Given the description of an element on the screen output the (x, y) to click on. 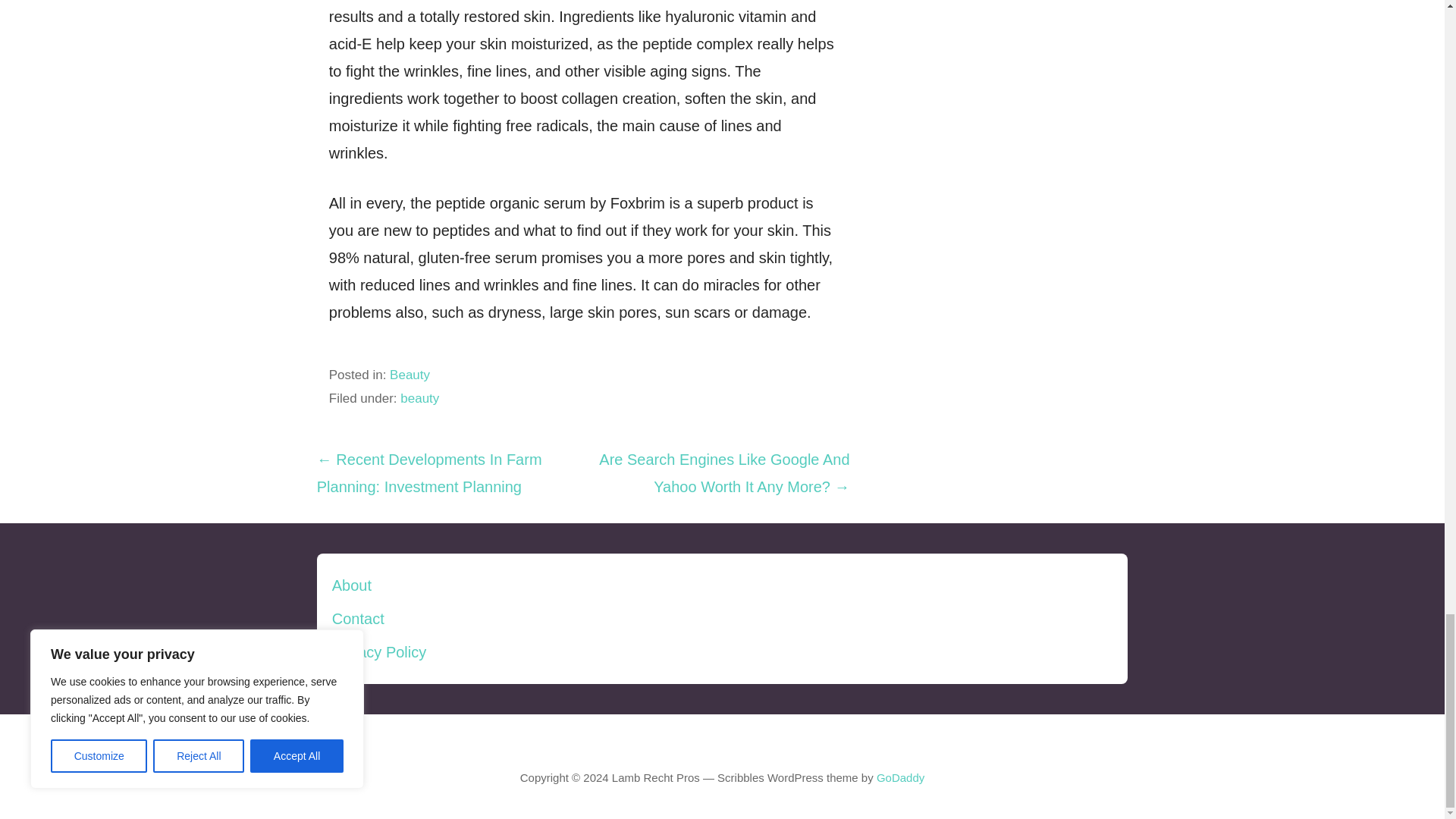
Beauty (409, 374)
beauty (419, 398)
